Given the description of an element on the screen output the (x, y) to click on. 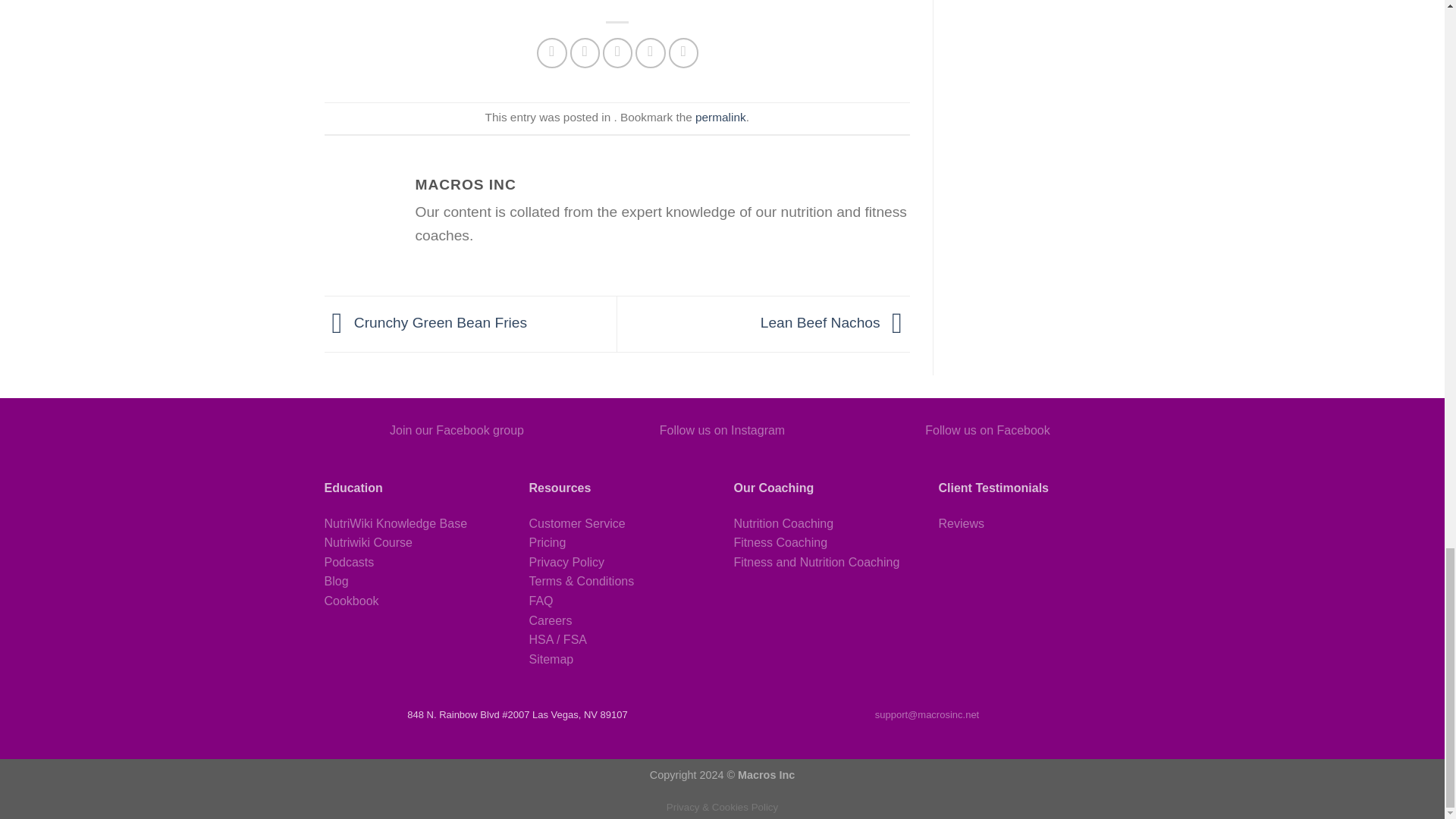
Pin on Pinterest (649, 52)
Share on Twitter (584, 52)
Share on Facebook (552, 52)
Permalink to Spicy Wasabi Ranch Dip (720, 116)
Email to a Friend (617, 52)
Share on LinkedIn (683, 52)
